Given the description of an element on the screen output the (x, y) to click on. 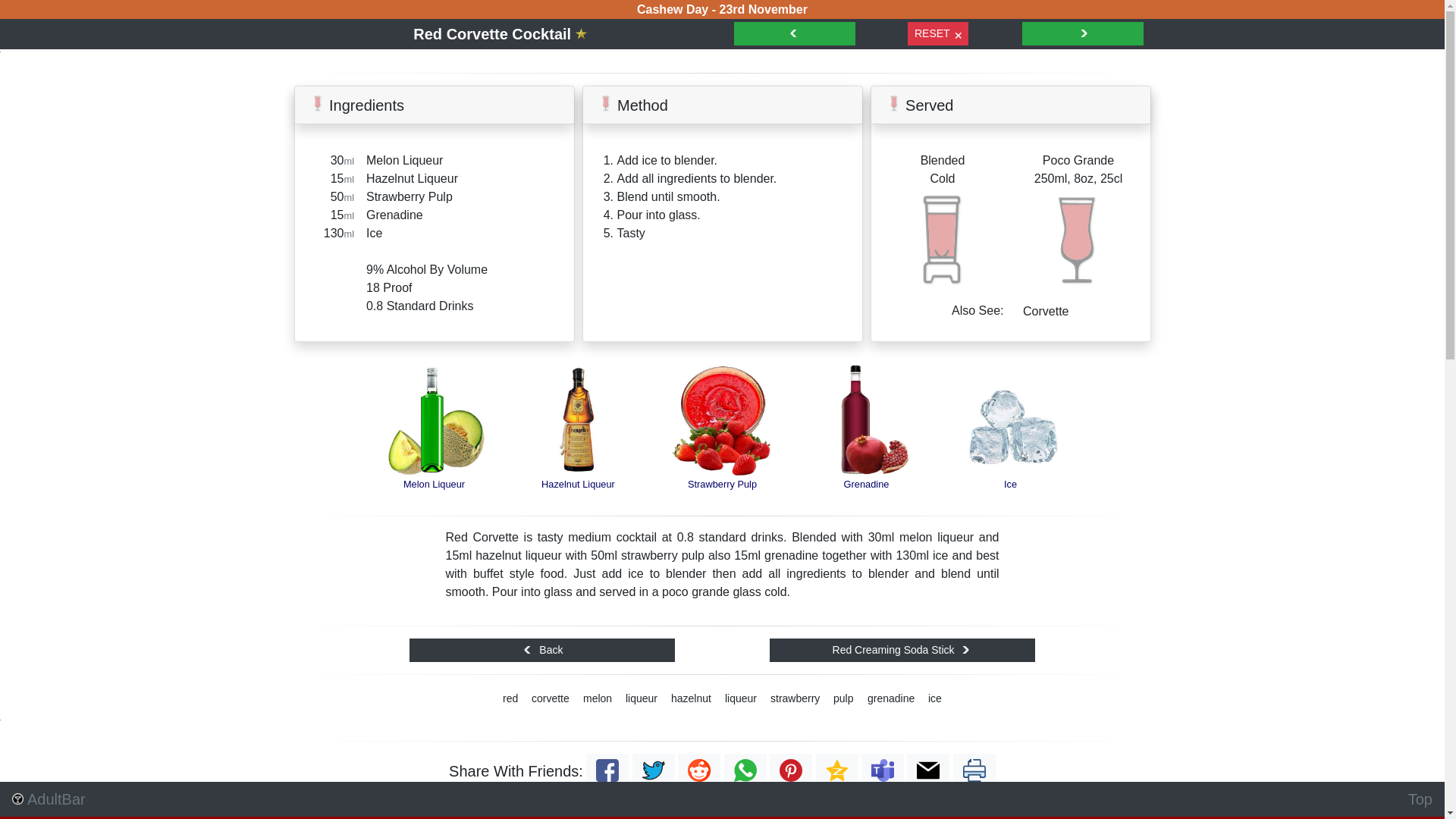
grenadine Element type: text (890, 698)
Share to pinterest. Element type: hover (790, 772)
Back Element type: text (541, 650)
Share to twitter. Element type: hover (653, 772)
Cashew Day - 23rd November Element type: text (722, 9)
Ice Element type: text (1010, 451)
melon Element type: text (597, 698)
Hazelnut Liqueur Element type: text (578, 451)
Share to facebook. Element type: hover (607, 772)
Blended and served cold. Element type: hover (942, 239)
Corvette Element type: text (1045, 311)
Print page. Element type: hover (974, 772)
liqueur Element type: text (740, 698)
strawberry Element type: text (794, 698)
Melon Liqueur Element type: text (434, 451)
liqueur Element type: text (641, 698)
hazelnut Element type: text (691, 698)
Top Element type: text (1420, 798)
pulp Element type: text (842, 698)
Email a friend. Element type: hover (927, 772)
Current Cocktail List. Element type: hover (580, 33)
RESET
+
     Element type: text (937, 33)
Served in a poco grande glass. Element type: hover (1077, 239)
red Element type: text (509, 698)
Next Red Creaming Soda Stick. Element type: hover (1082, 33)
Share to qzone. Element type: hover (836, 772)
Share to teams. Element type: hover (882, 772)
corvette Element type: text (550, 698)
Strawberry Pulp Element type: text (722, 451)
Red Creaming Soda Stick Element type: text (902, 650)
Share to whatsapp. Element type: hover (745, 772)
AdultBar Element type: text (48, 798)
Grenadine Element type: text (866, 451)
Share to reddit. Element type: hover (698, 772)
Back Page Element type: hover (794, 33)
ice Element type: text (934, 698)
